Given the description of an element on the screen output the (x, y) to click on. 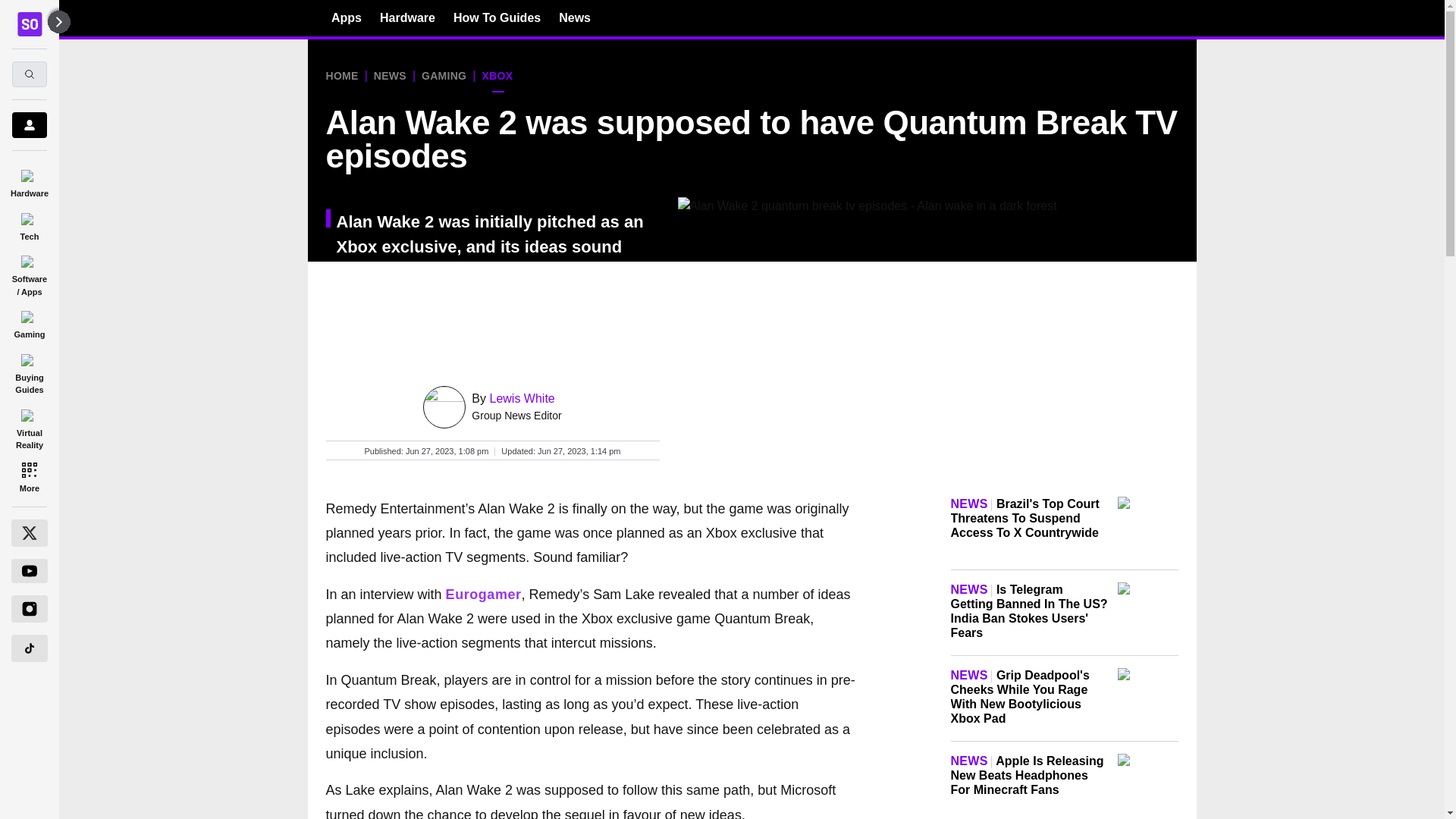
Hardware (28, 180)
Gaming (28, 322)
How To Guides (496, 18)
Hardware (407, 18)
News (575, 18)
Apps (346, 18)
More (28, 476)
Tech (28, 224)
